Given the description of an element on the screen output the (x, y) to click on. 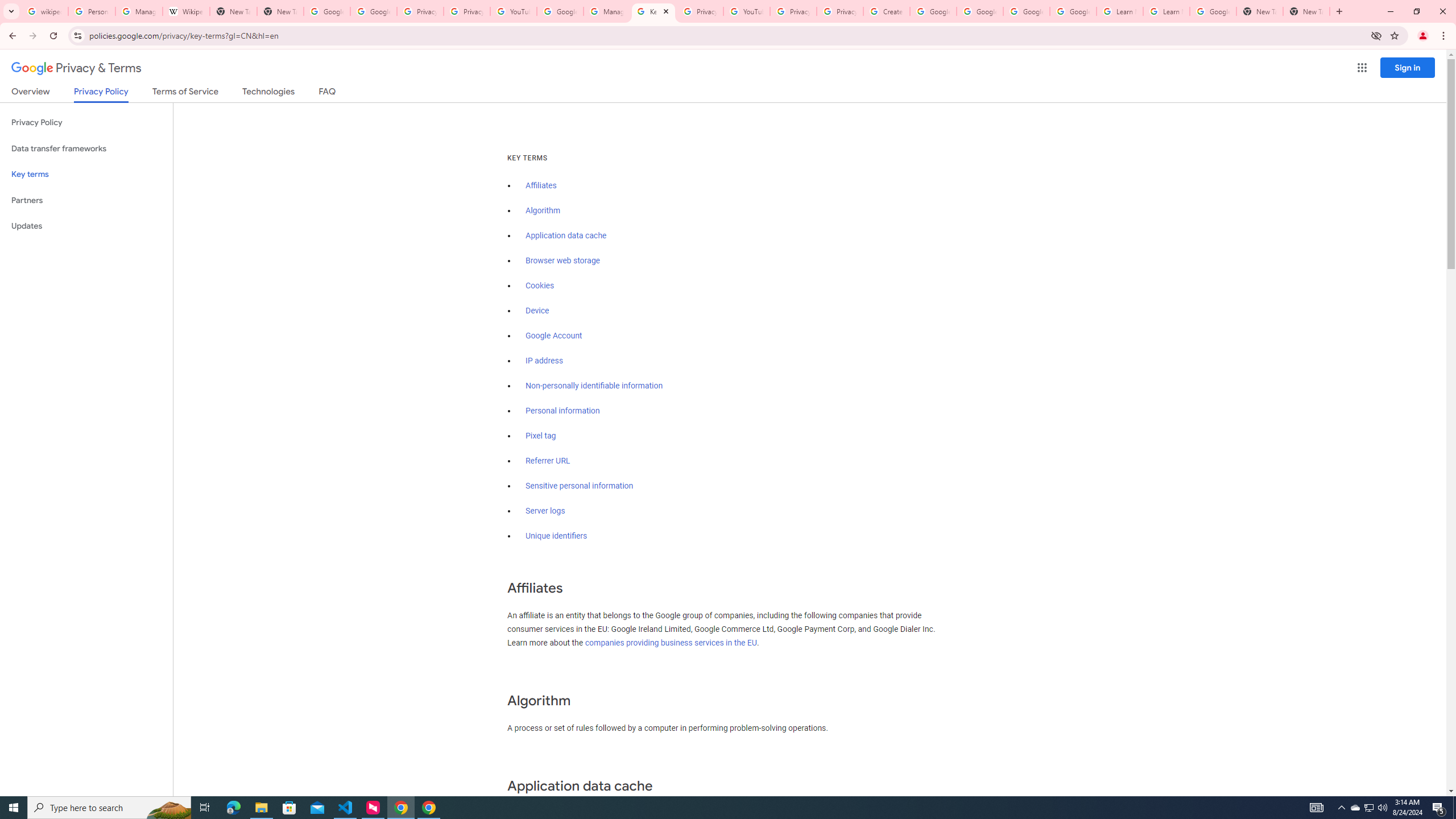
IP address (544, 361)
New Tab (1259, 11)
Privacy Policy (86, 122)
Overview (30, 93)
Google Account Help (559, 11)
Manage your Location History - Google Search Help (138, 11)
YouTube (512, 11)
